Given the description of an element on the screen output the (x, y) to click on. 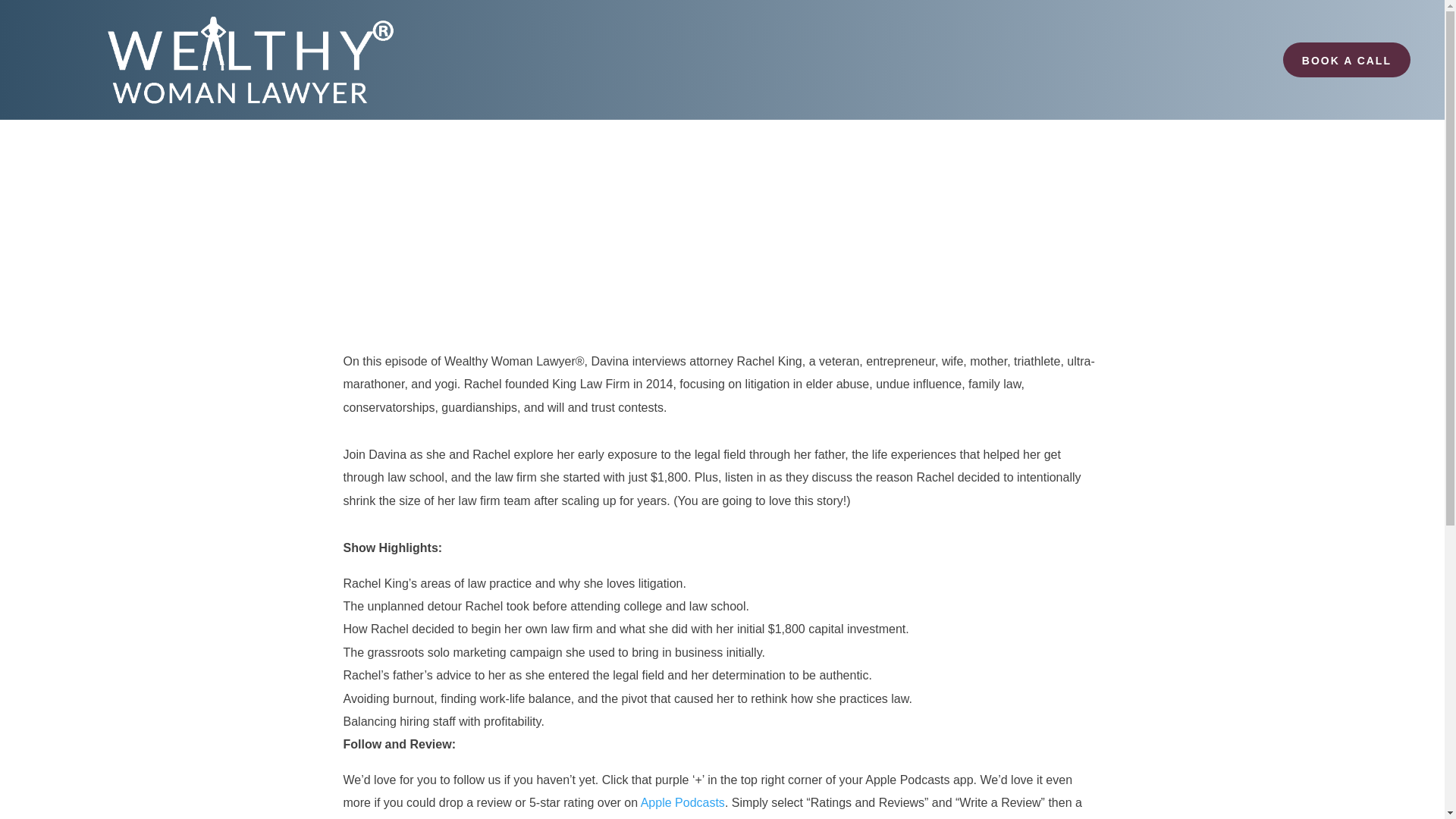
BOOK A CALL (1346, 59)
Apple Podcasts (682, 802)
Wealthy Woman Lawyer-copyright-NEW (226, 59)
